Given the description of an element on the screen output the (x, y) to click on. 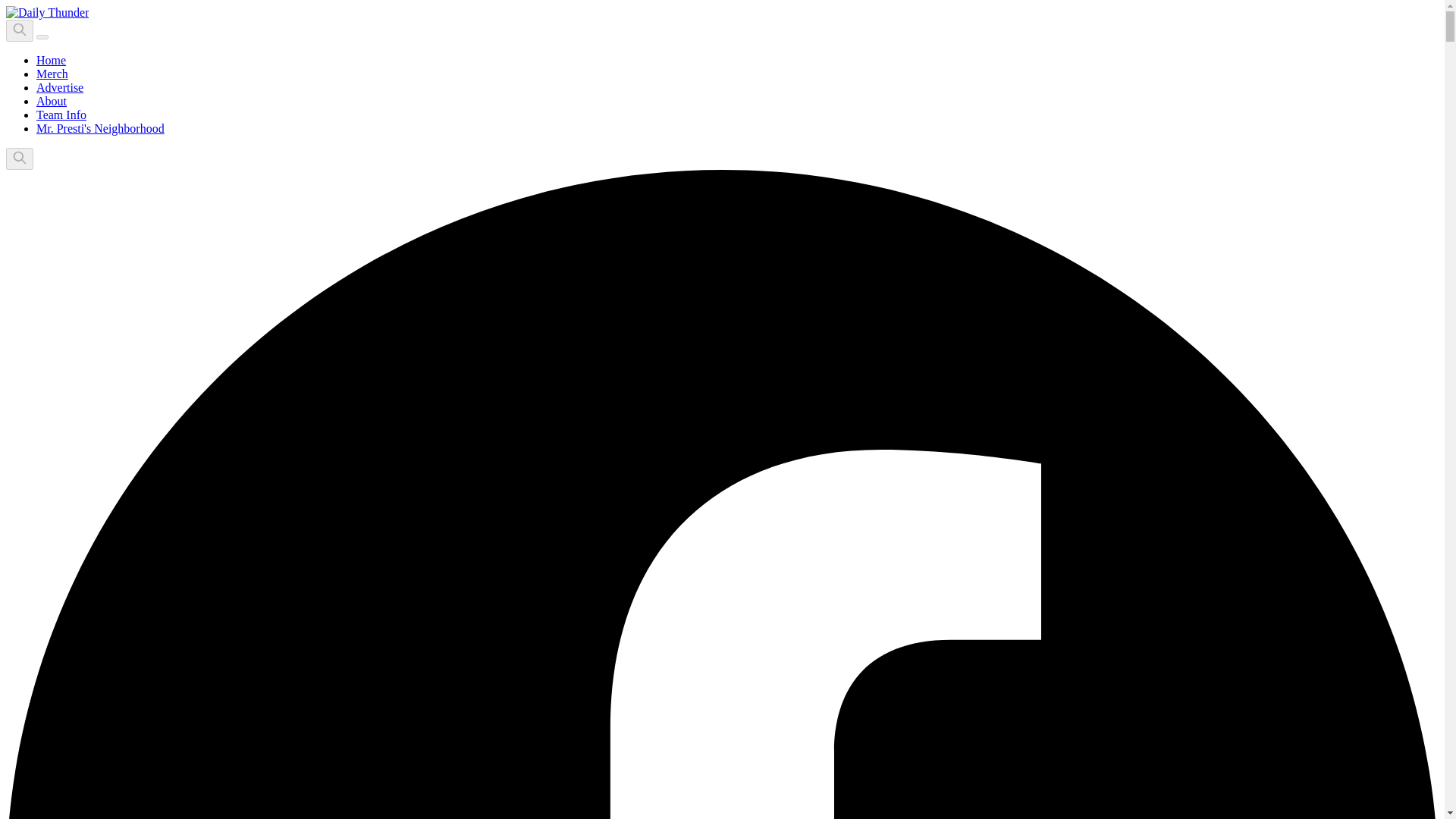
About (51, 101)
Home (50, 60)
Team Info (60, 114)
Mr. Presti's Neighborhood (100, 128)
Merch (52, 73)
Advertise (59, 87)
